Given the description of an element on the screen output the (x, y) to click on. 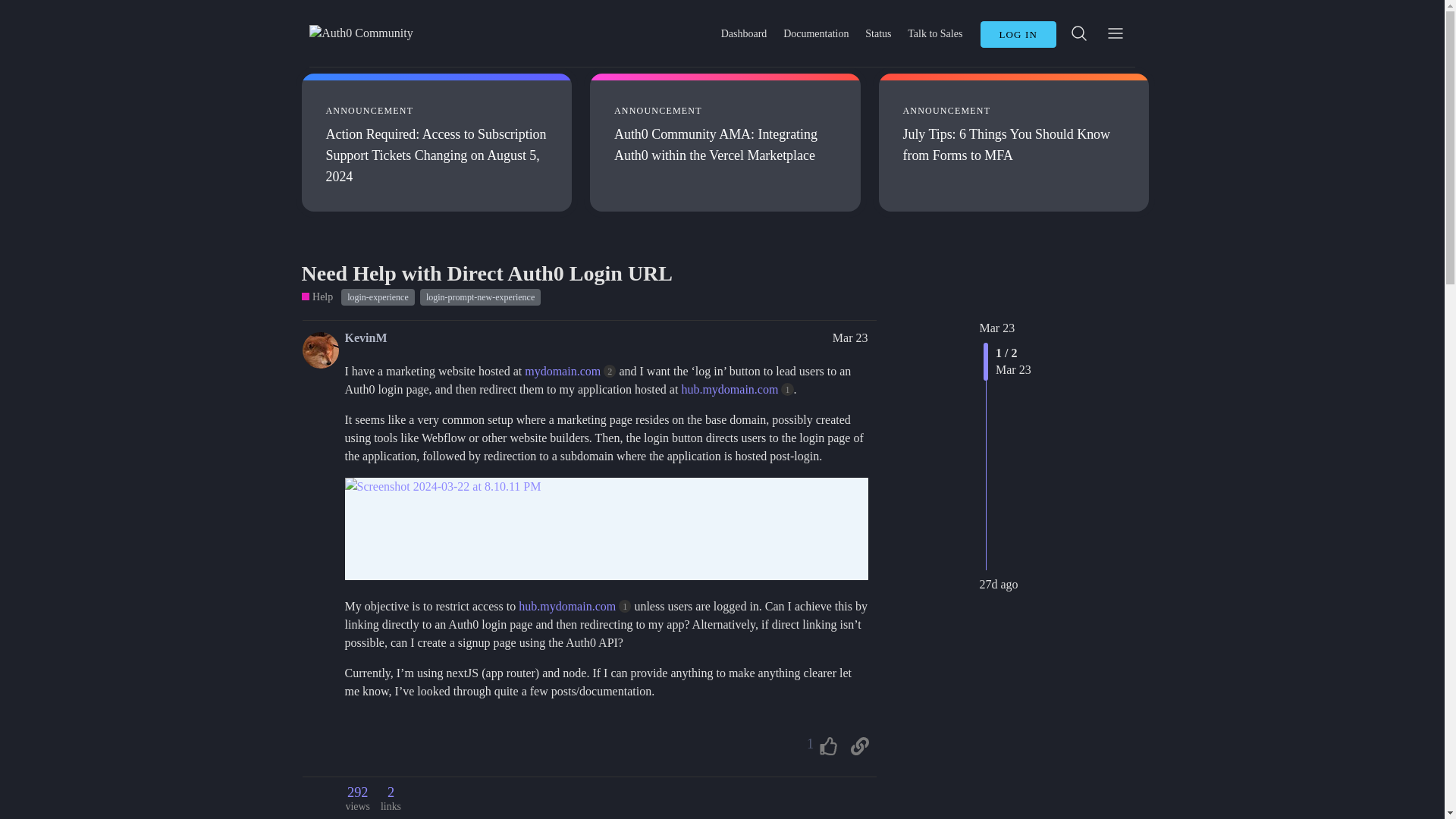
1 (818, 746)
Help (317, 296)
Auth0 Documentation (816, 33)
1 click (786, 389)
Auth0 Dashboard (743, 33)
Status (878, 33)
hub.mydomain.com 1 (737, 389)
login-prompt-new-experience (480, 297)
Talk to Auth0 Sales Team (935, 33)
Mar 23 (849, 337)
